Given the description of an element on the screen output the (x, y) to click on. 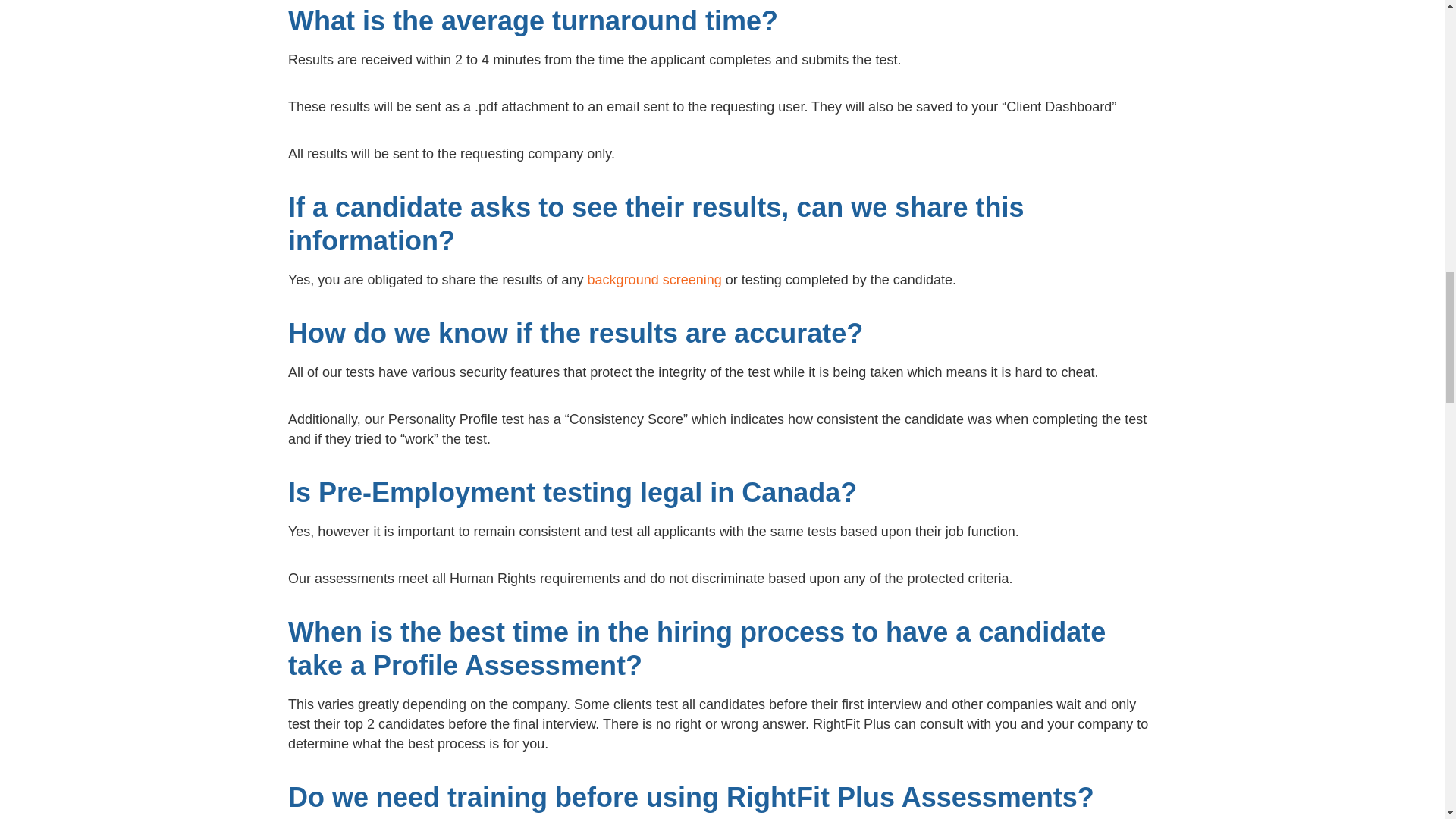
background screening (655, 279)
